Given the description of an element on the screen output the (x, y) to click on. 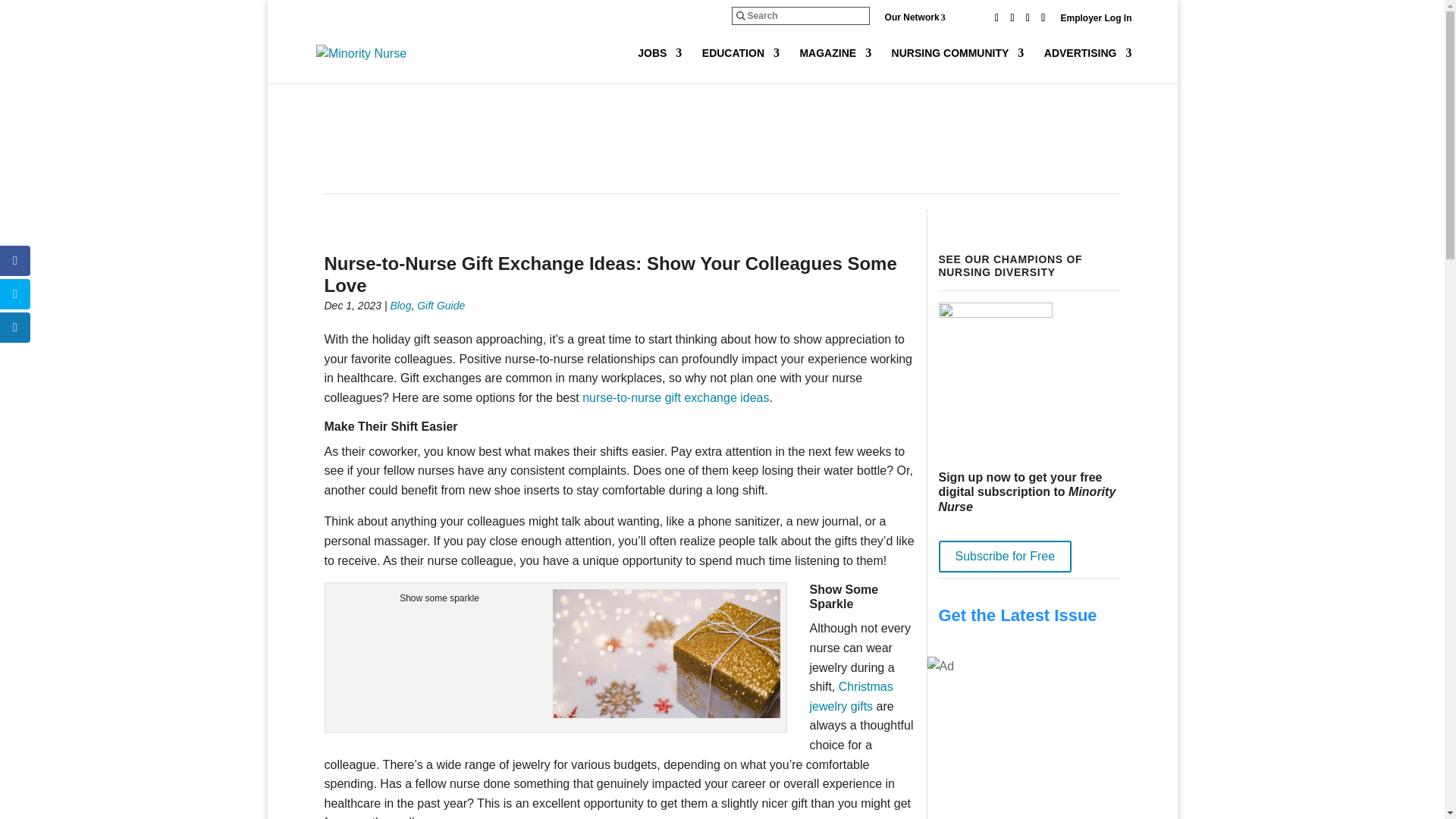
Subscribe for Free (1005, 556)
EDUCATION (739, 65)
JOBS (659, 65)
Employer Log In (1095, 21)
Our Network (926, 17)
3rd party ad content (721, 141)
NURSING COMMUNITY (958, 65)
MAGAZINE (834, 65)
